Given the description of an element on the screen output the (x, y) to click on. 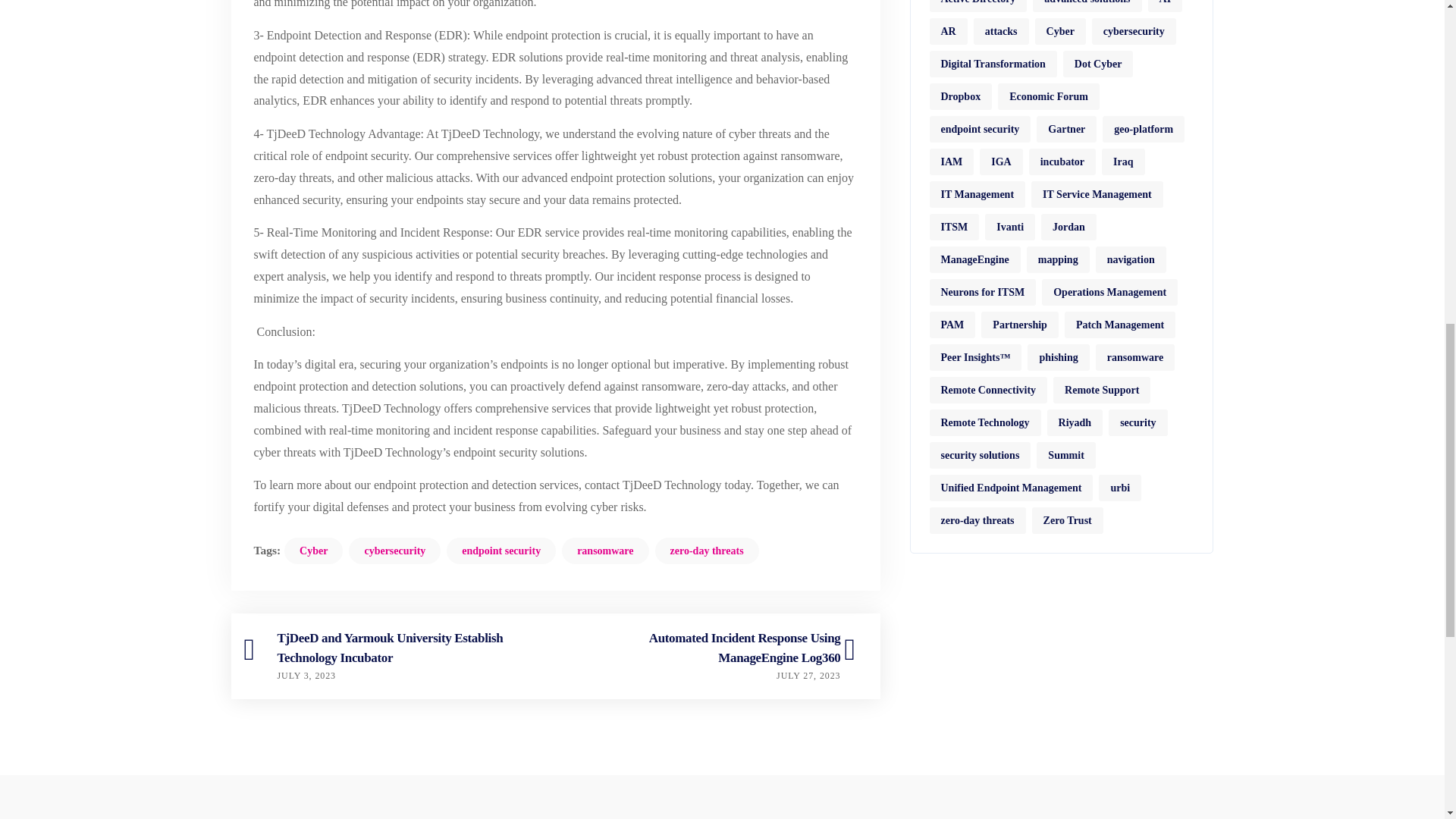
Cyber (1060, 31)
ransomware (604, 550)
advanced solutions (1086, 6)
attacks (1001, 31)
Dot Cyber (1098, 63)
AR (949, 31)
Economic Forum (1048, 96)
Digital Transformation (993, 63)
endpoint security (980, 129)
Gartner (1066, 129)
cybersecurity (1134, 31)
Dropbox (961, 96)
AI (1165, 6)
